Given the description of an element on the screen output the (x, y) to click on. 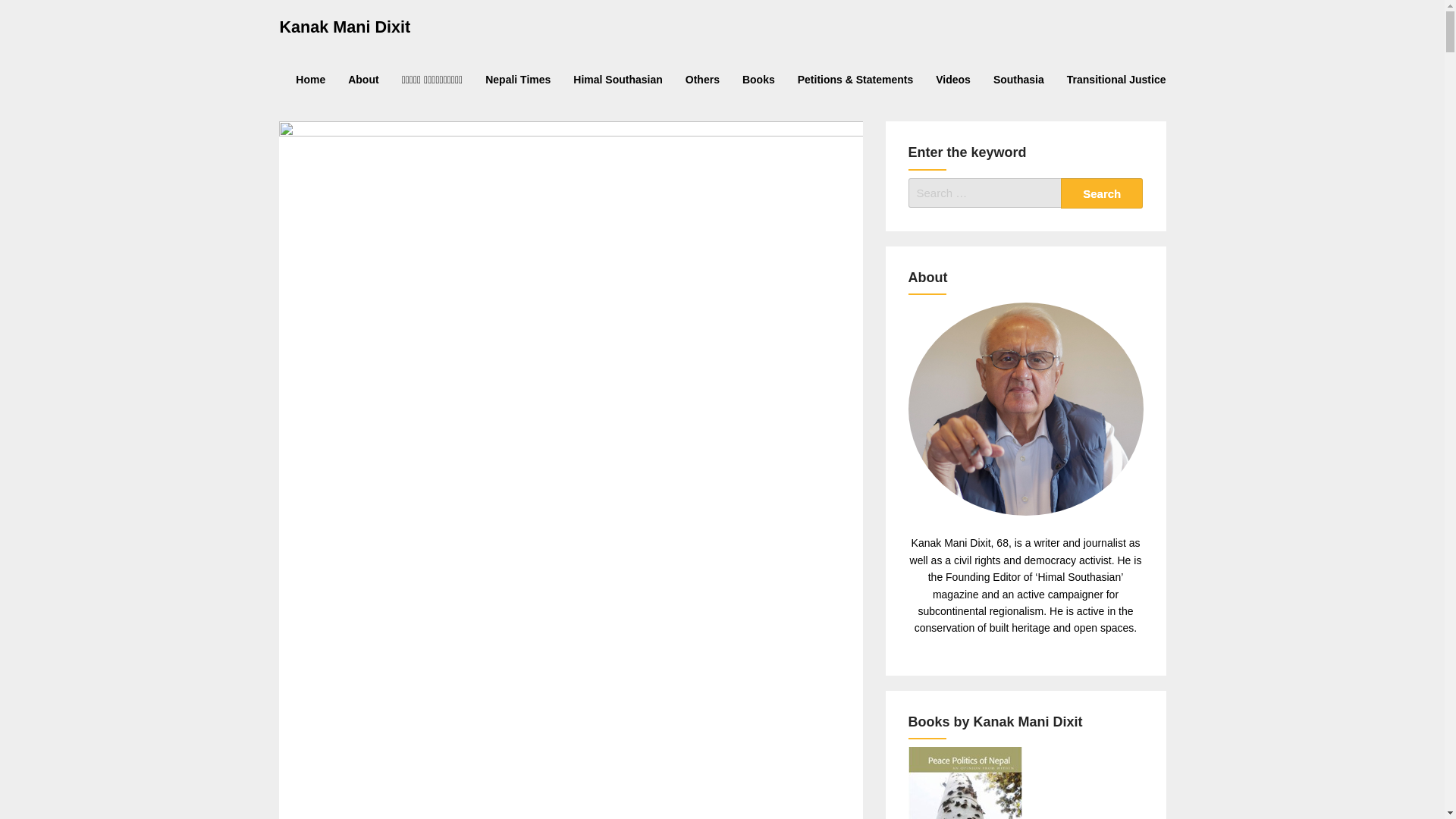
Books (758, 79)
Transitional Justice (1116, 79)
Others (702, 79)
Search (1101, 193)
Himal Southasian (617, 79)
Kanak Mani Dixit (344, 26)
About (363, 79)
Videos (952, 79)
Nepali Times (518, 79)
Search (1101, 193)
